Given the description of an element on the screen output the (x, y) to click on. 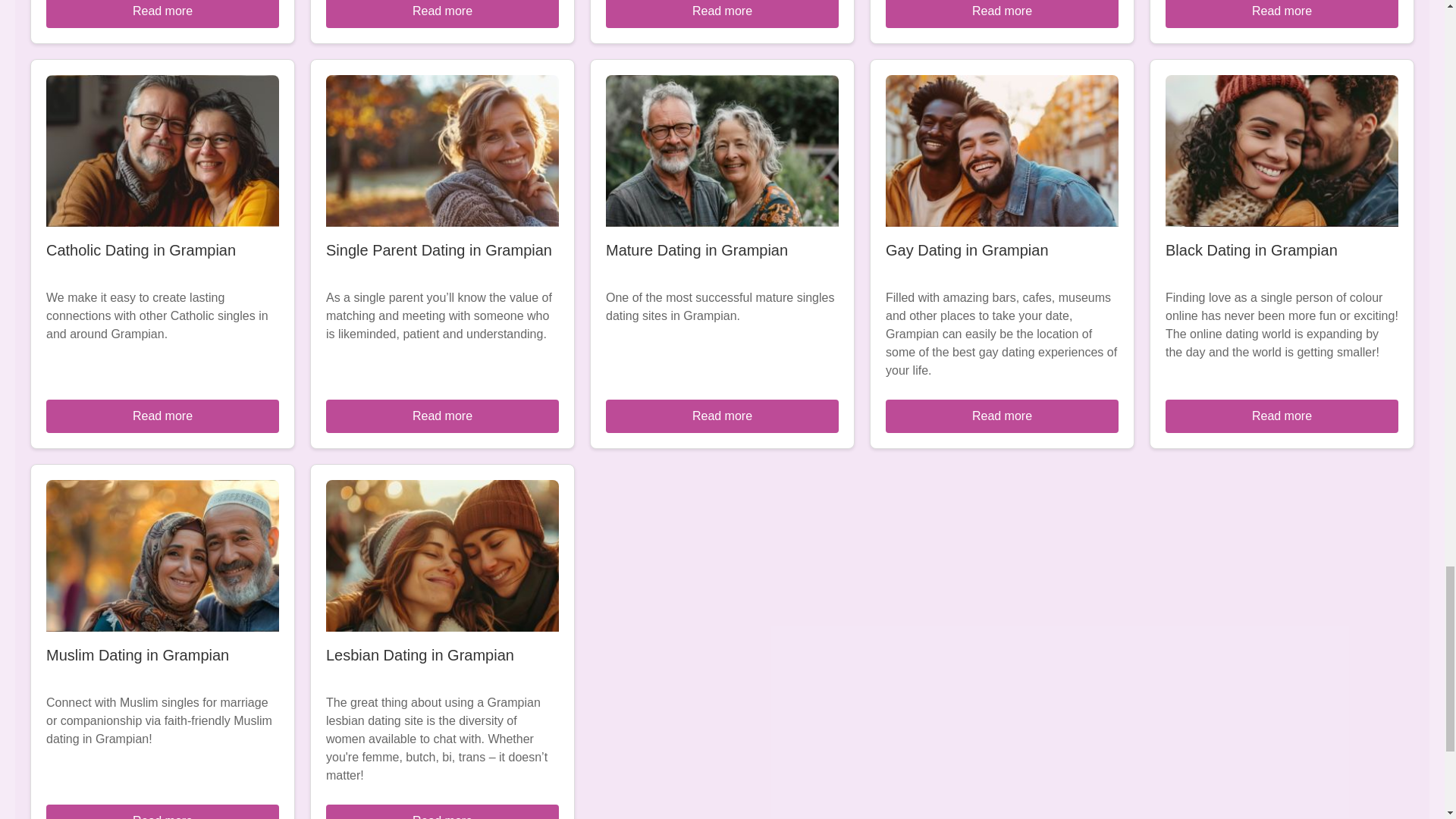
Read more (1001, 416)
Read more (1281, 13)
Read more (1281, 416)
Read more (721, 13)
Read more (442, 811)
Read more (442, 416)
Read more (162, 811)
Read more (162, 416)
Read more (442, 13)
Read more (162, 13)
Read more (1001, 13)
Read more (721, 416)
